Given the description of an element on the screen output the (x, y) to click on. 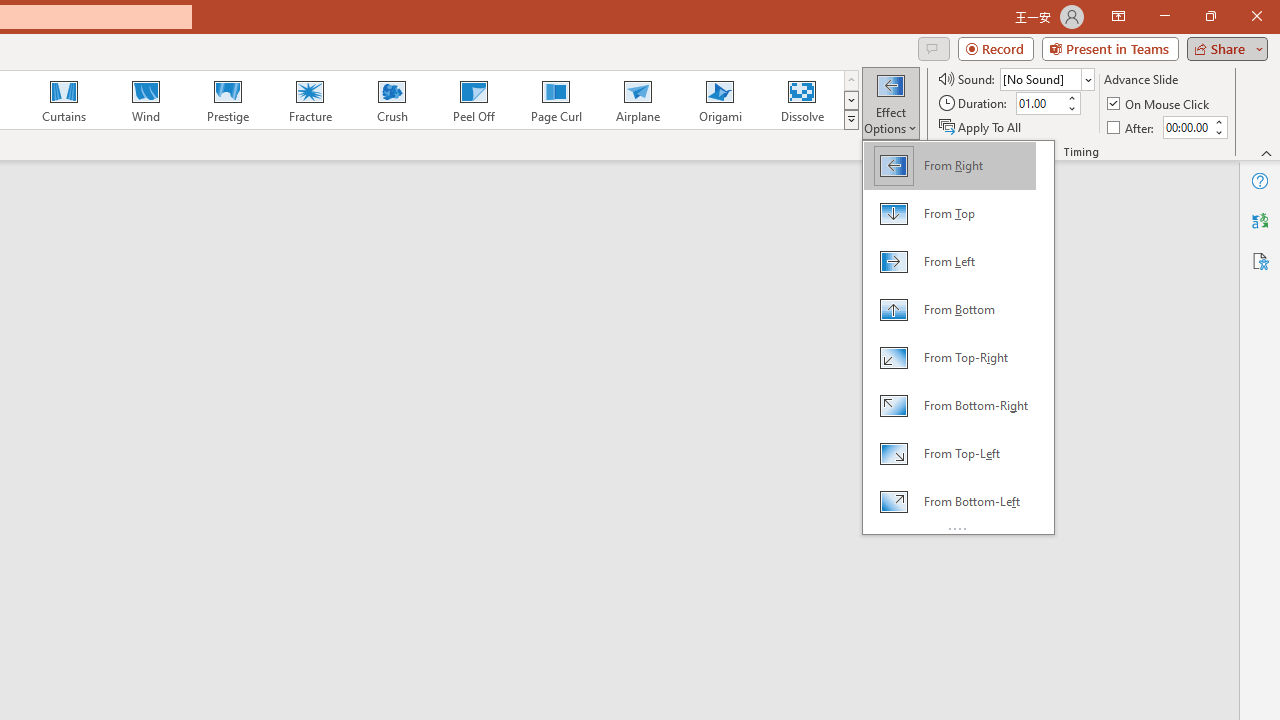
Airplane (637, 100)
Fracture (309, 100)
Curtains (63, 100)
Sound (1046, 78)
Peel Off (473, 100)
